Given the description of an element on the screen output the (x, y) to click on. 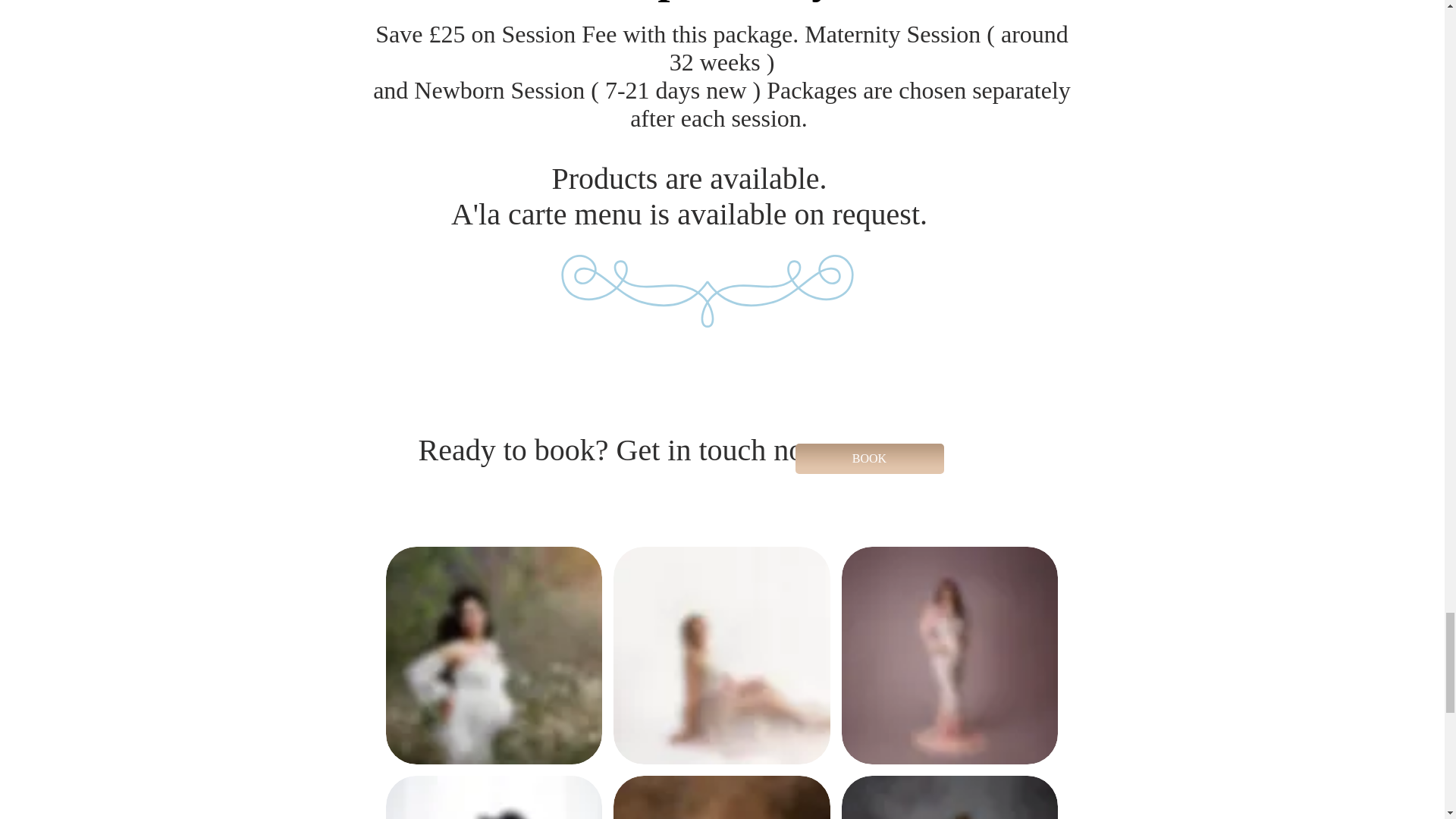
BOOK (868, 458)
